Given the description of an element on the screen output the (x, y) to click on. 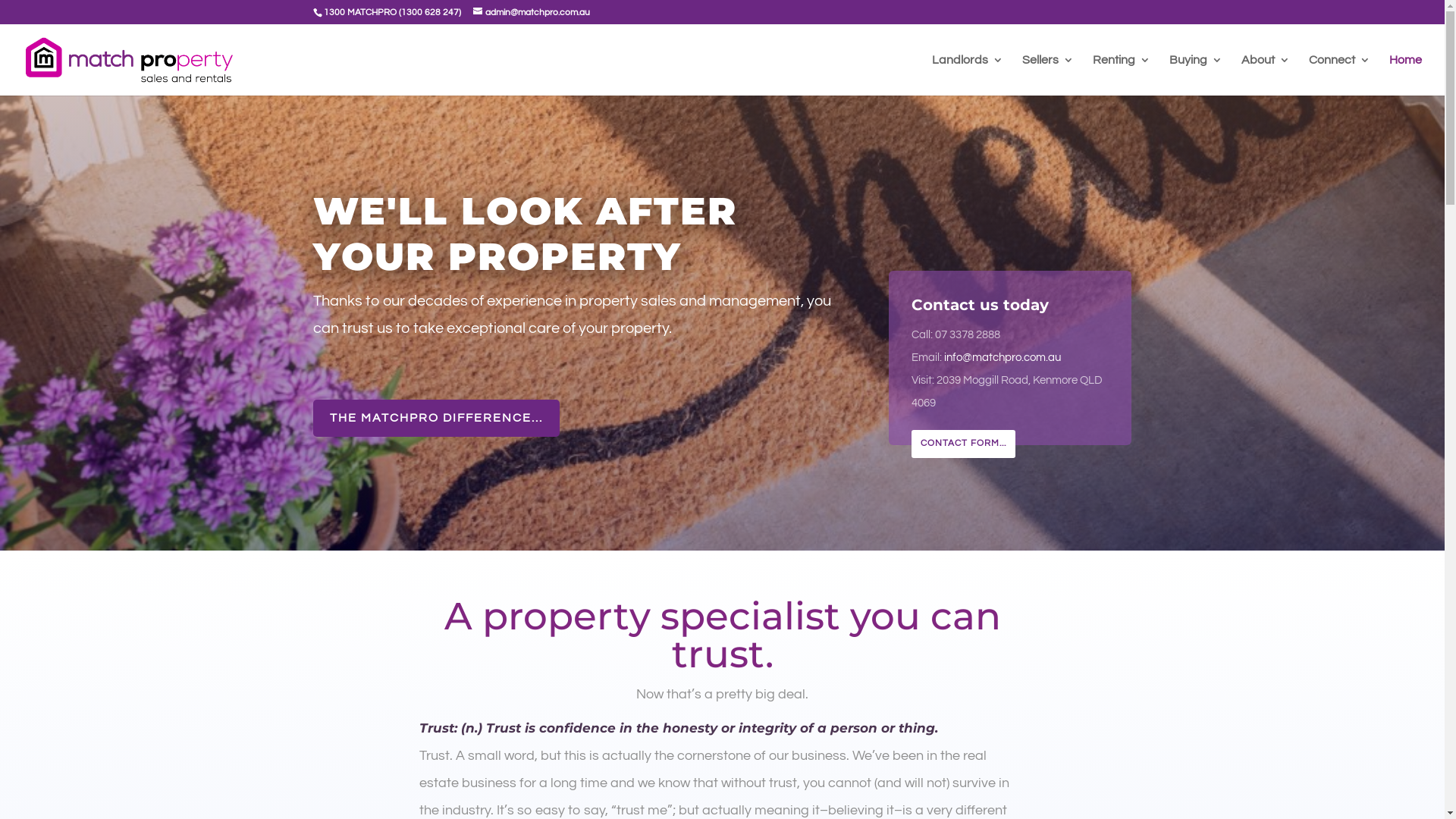
Renting Element type: text (1121, 74)
info@matchpro.com.au Element type: text (1002, 357)
Connect Element type: text (1339, 74)
CONTACT FORM... Element type: text (963, 443)
Landlords Element type: text (967, 74)
Buying Element type: text (1195, 74)
About Element type: text (1265, 74)
THE MATCHPRO DIFFERENCE... Element type: text (435, 417)
Sellers Element type: text (1047, 74)
Home Element type: text (1405, 74)
admin@matchpro.com.au Element type: text (531, 12)
